Given the description of an element on the screen output the (x, y) to click on. 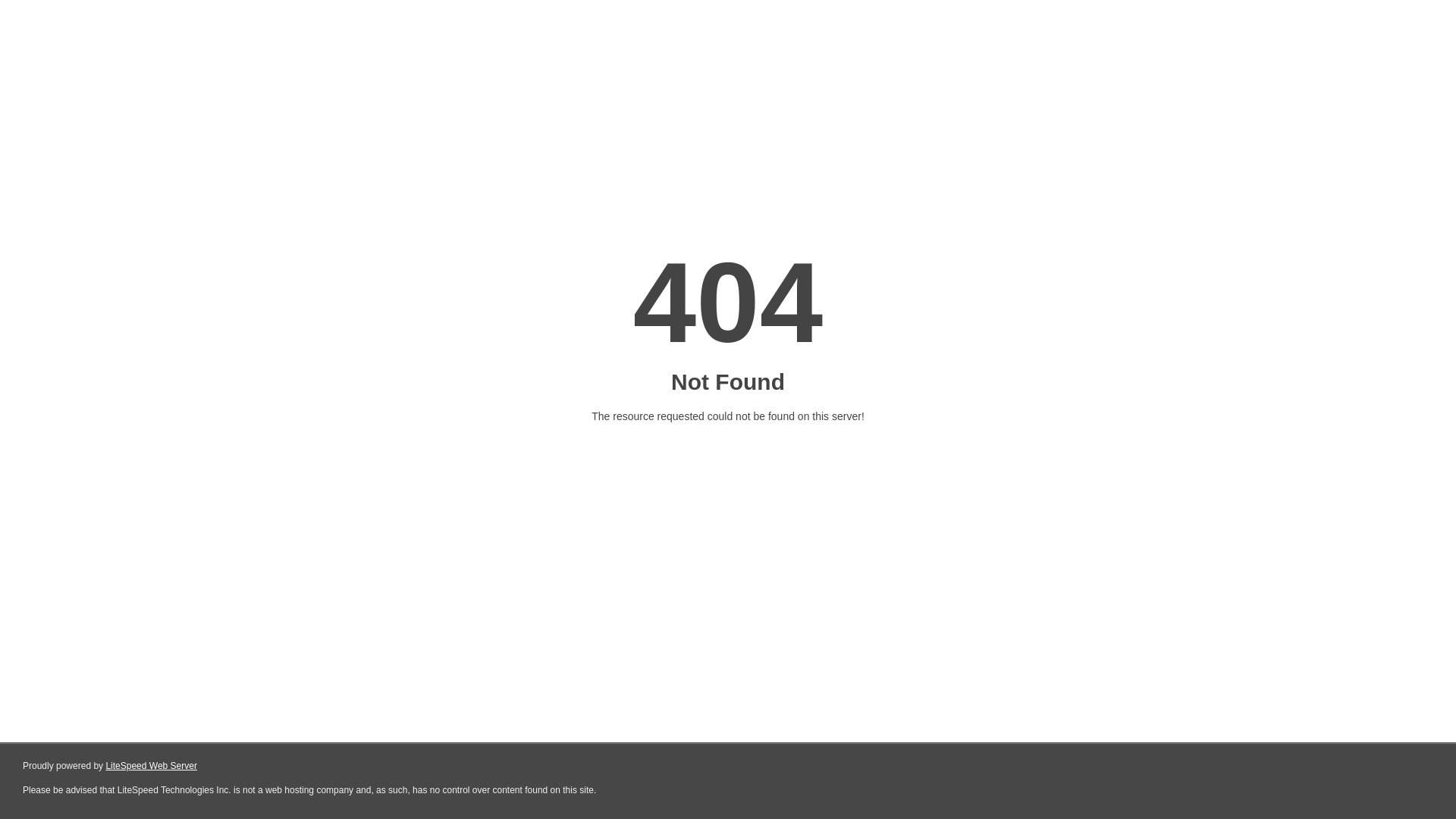
LiteSpeed Web Server Element type: text (151, 765)
